Given the description of an element on the screen output the (x, y) to click on. 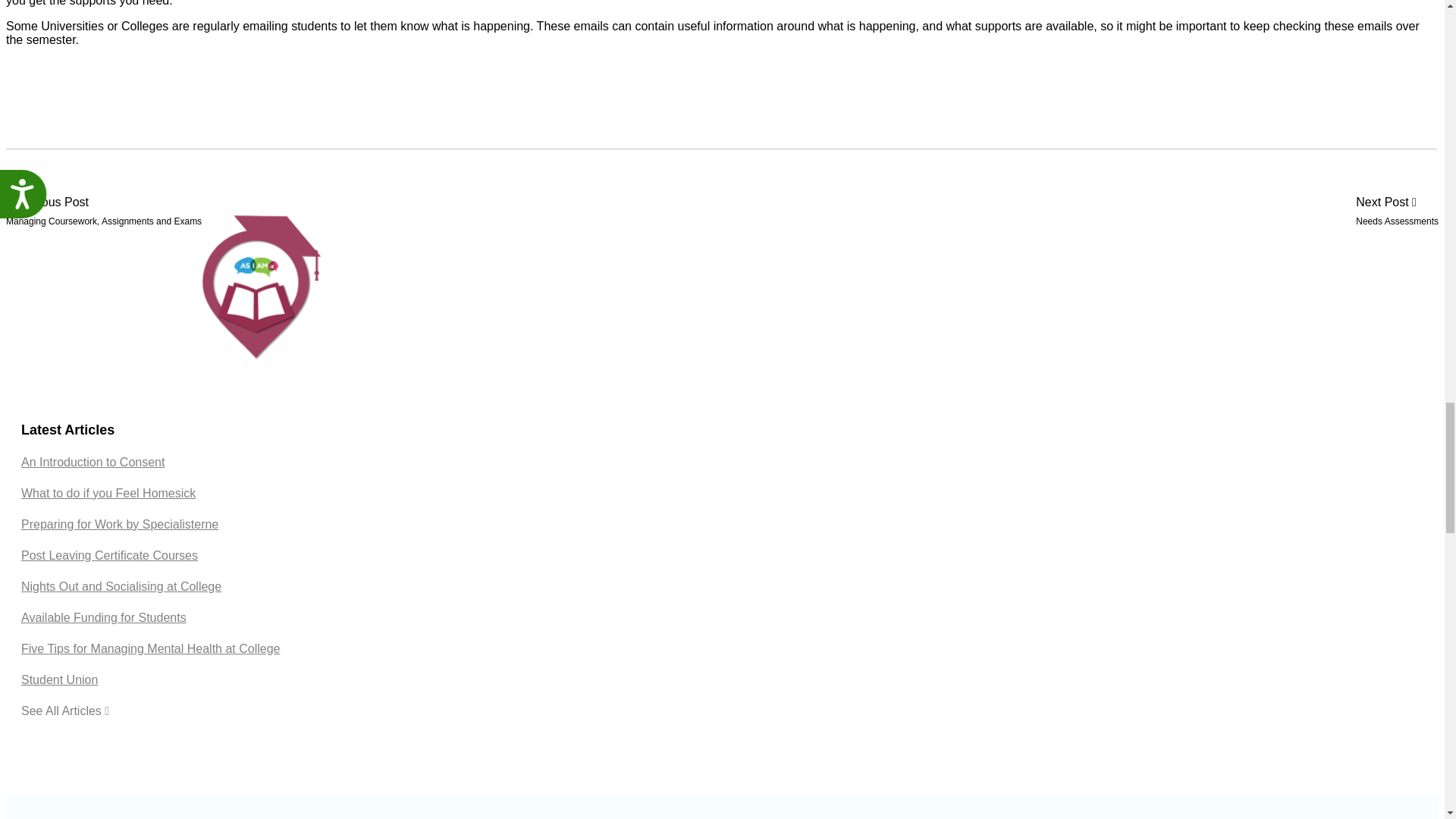
An Introduction to Consent (92, 461)
Five Tips for Managing Mental Health at College (151, 648)
See All Articles (65, 710)
Previous Post (103, 202)
Post Leaving Certificate Courses (109, 554)
Available Funding for Students (103, 617)
What to do if you Feel Homesick (108, 492)
Student Union (59, 679)
Preparing for Work by Specialisterne (119, 523)
Nights Out and Socialising at College (121, 585)
